Given the description of an element on the screen output the (x, y) to click on. 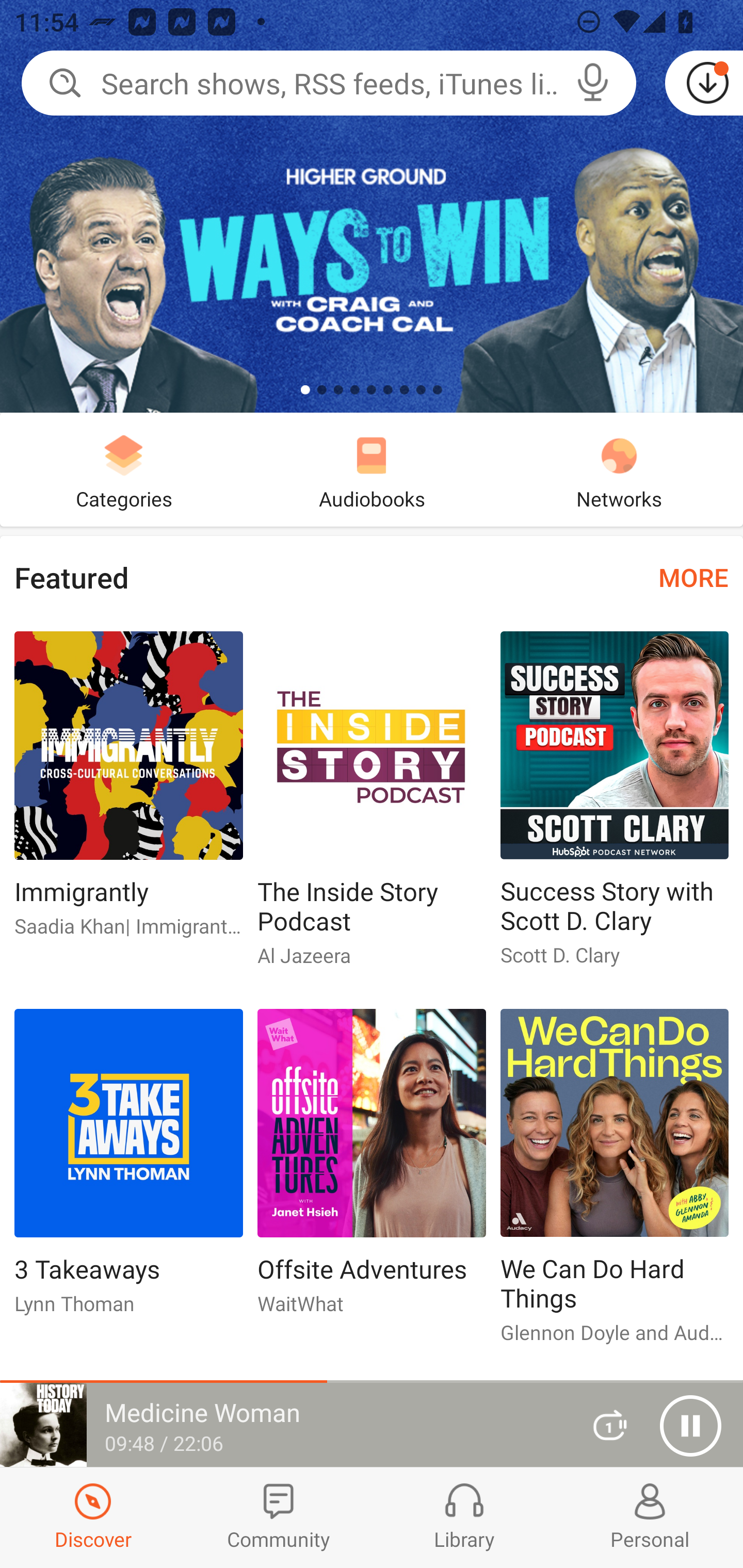
Ways To Win (371, 206)
Categories (123, 469)
Audiobooks (371, 469)
Networks (619, 469)
MORE (693, 576)
3 Takeaways 3 Takeaways Lynn Thoman (128, 1169)
Offsite Adventures Offsite Adventures WaitWhat (371, 1169)
Medicine Woman 09:48 / 22:06 (283, 1424)
Pause (690, 1425)
Discover (92, 1517)
Community (278, 1517)
Library (464, 1517)
Profiles and Settings Personal (650, 1517)
